Given the description of an element on the screen output the (x, y) to click on. 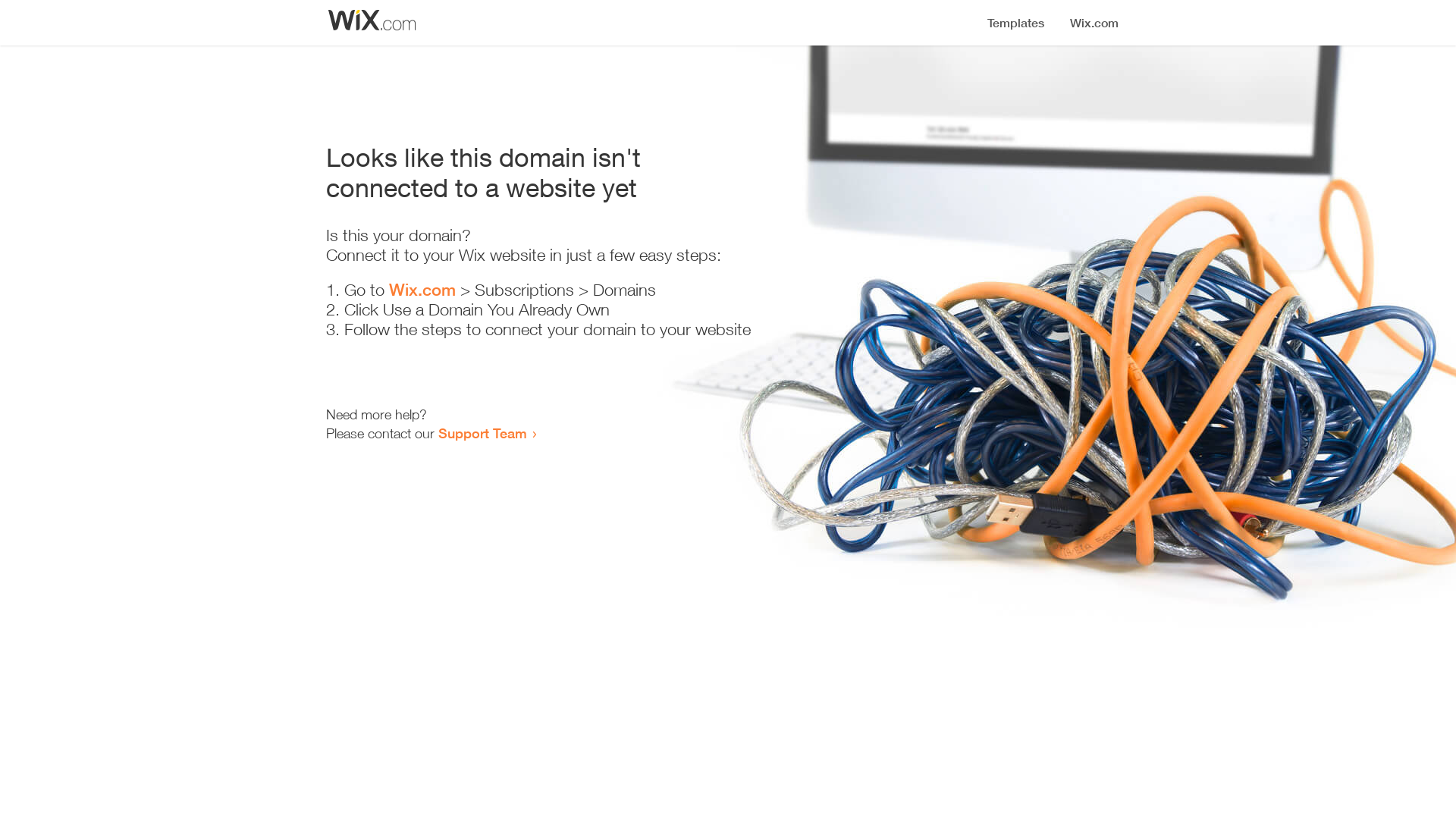
Support Team Element type: text (482, 432)
Wix.com Element type: text (422, 289)
